Given the description of an element on the screen output the (x, y) to click on. 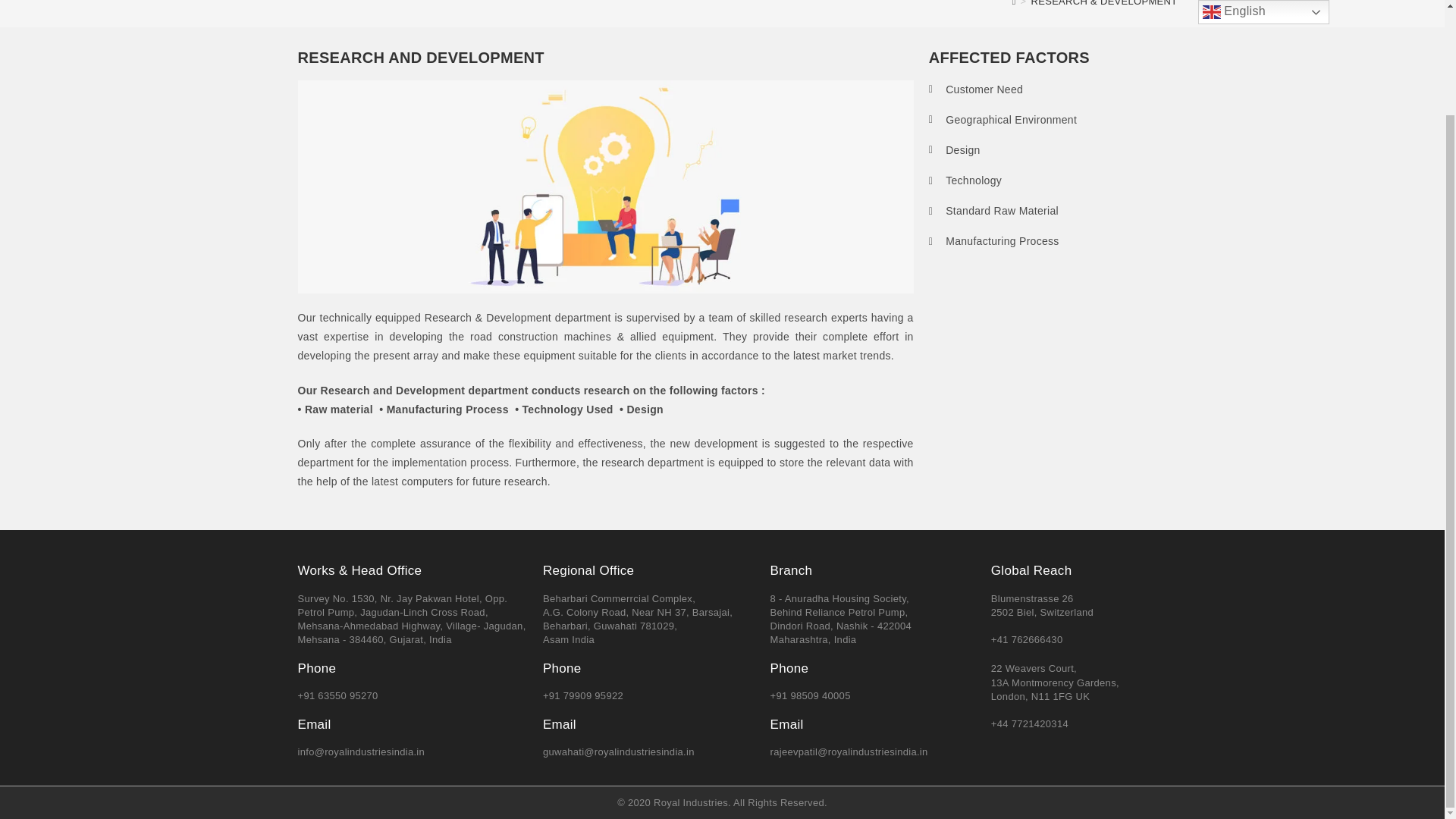
Royal Industries. (691, 802)
